Given the description of an element on the screen output the (x, y) to click on. 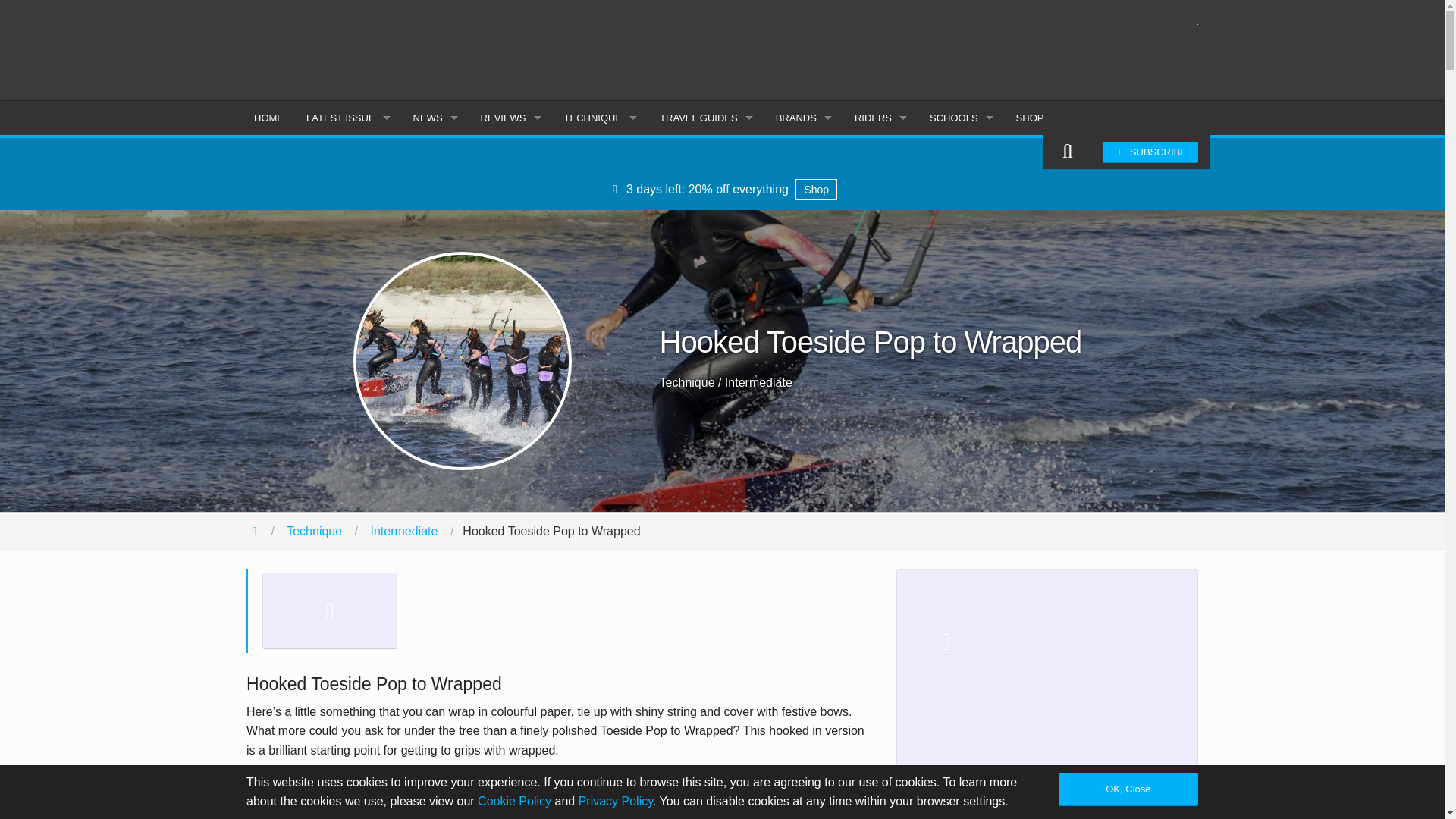
POPULAR (434, 223)
READERS GALLERY (434, 325)
ISSUE 106 (348, 154)
NEWS (434, 117)
EVENTS (434, 257)
LATEST ISSUE (348, 117)
AWARDS (434, 291)
FEATURES (434, 188)
ACCESSORIES (510, 359)
HOME (269, 117)
